Given the description of an element on the screen output the (x, y) to click on. 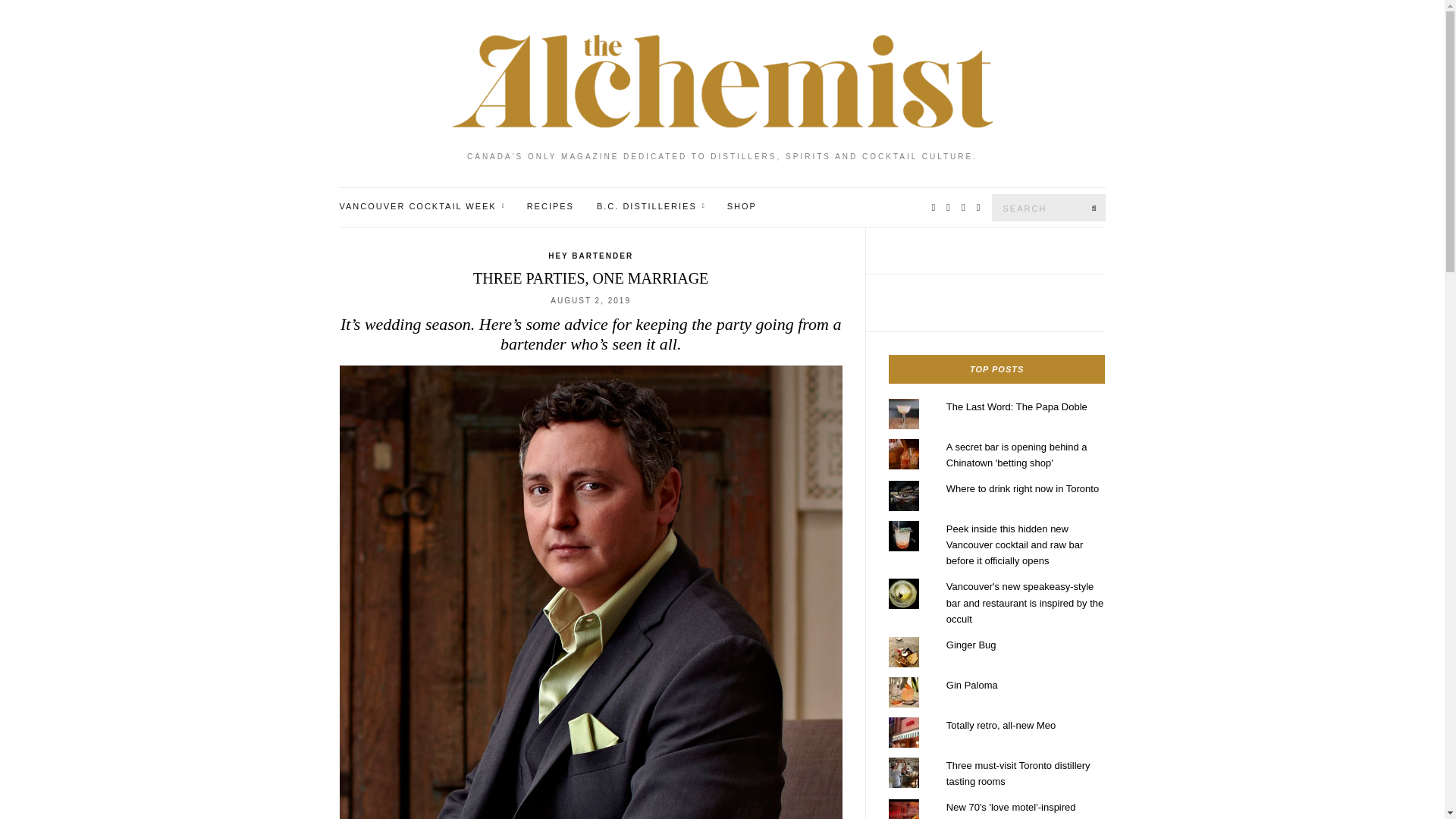
RECIPES (550, 206)
B.C. DISTILLERIES (650, 206)
Where to drink right now in Toronto (1022, 488)
Ginger Bug (970, 644)
The Last Word: The Papa Doble (1016, 406)
Gin Paloma (971, 685)
SHOP (741, 206)
THREE PARTIES, ONE MARRIAGE (590, 278)
A secret bar is opening behind a Chinatown 'betting shop' (1016, 454)
